Given the description of an element on the screen output the (x, y) to click on. 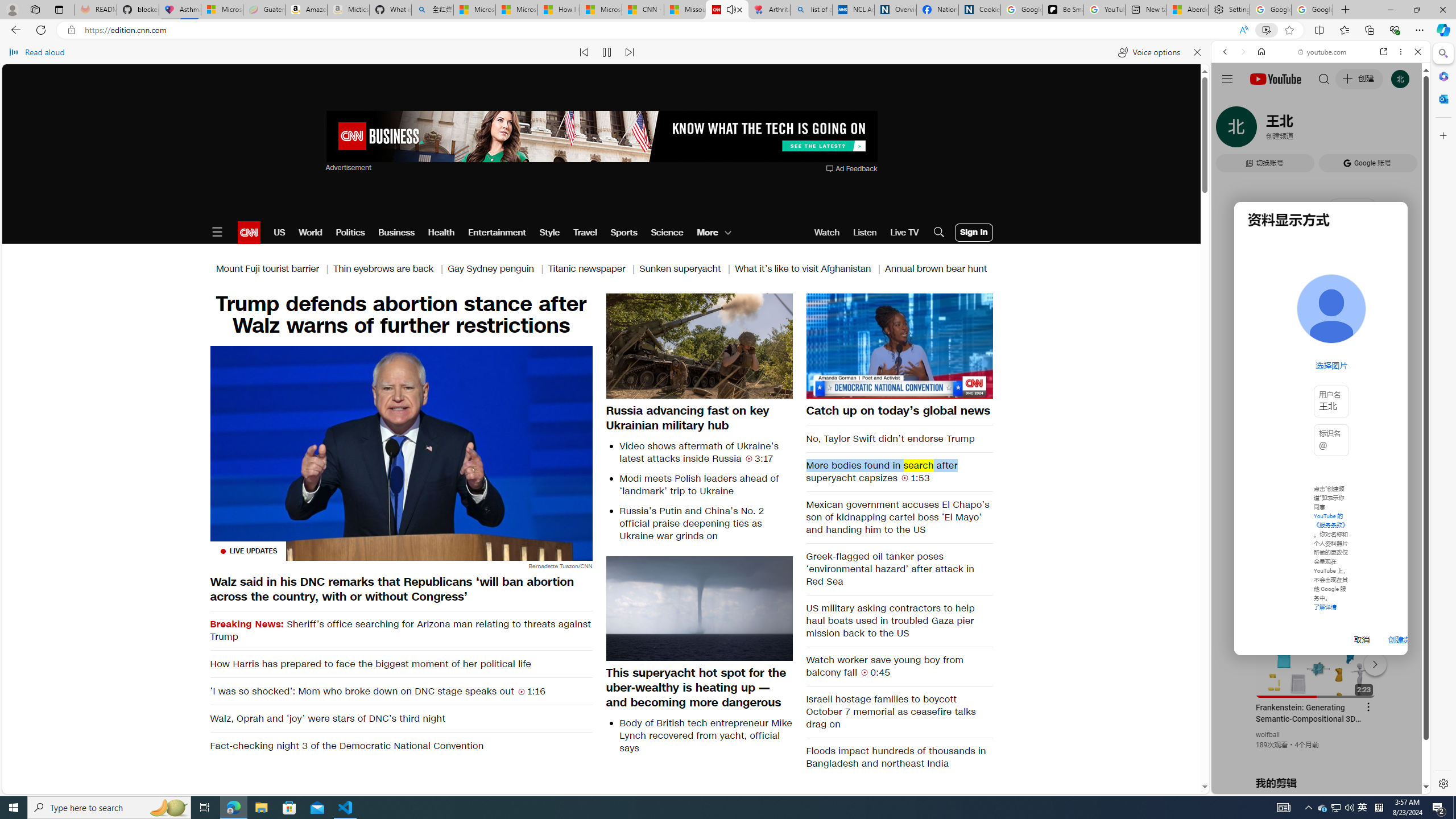
Annual brown bear hunt (936, 268)
CNN logo (248, 232)
US (279, 232)
Backward 10 seconds (864, 344)
Backward 10 seconds (864, 345)
US[ju] (1249, 785)
World (309, 232)
